Given the description of an element on the screen output the (x, y) to click on. 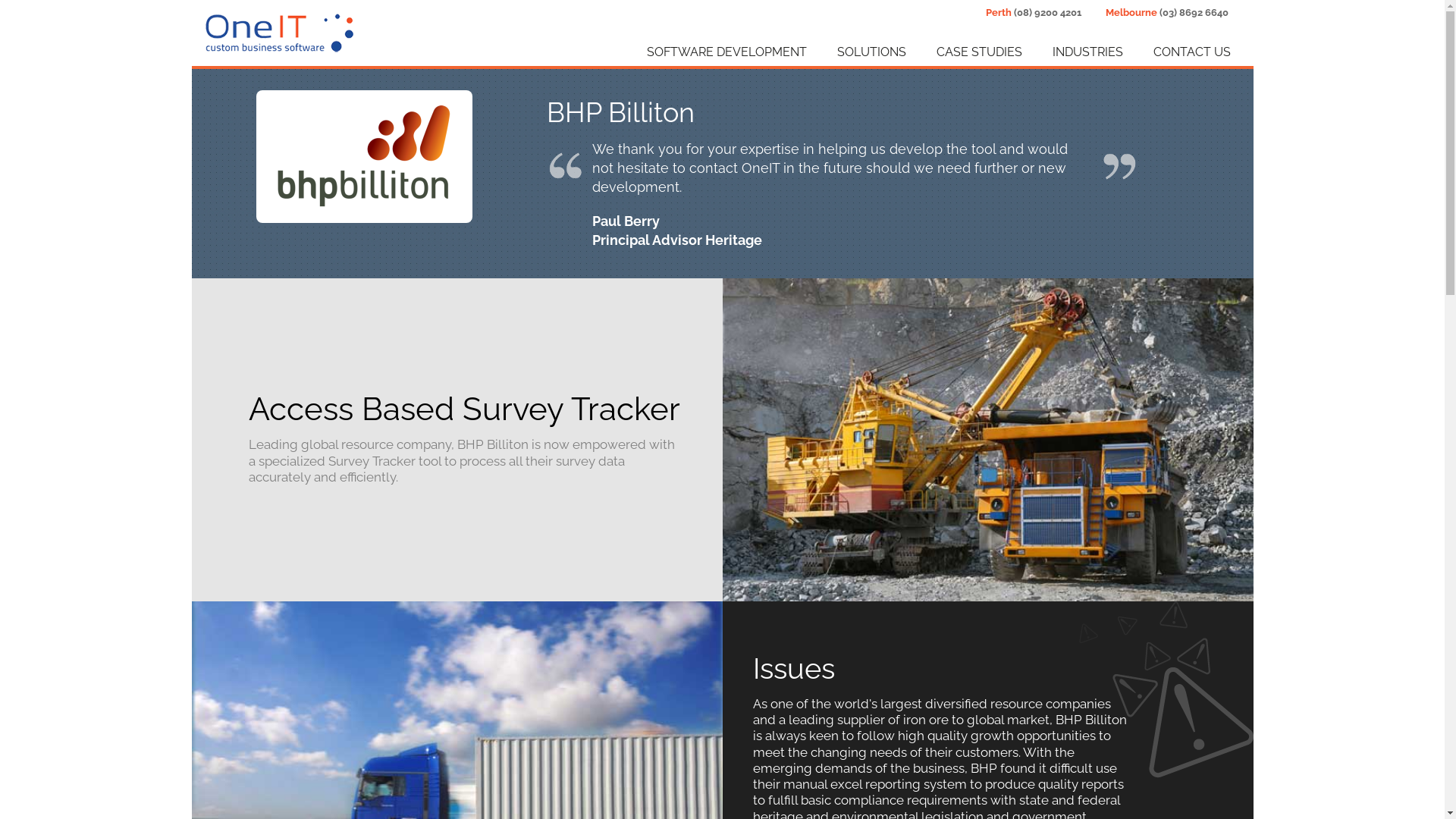
BHP Billiton Element type: hover (363, 156)
Software and Web Designer - OneIT Element type: hover (278, 31)
INDUSTRIES Element type: text (1072, 51)
SOFTWARE DEVELOPMENT Element type: text (710, 51)
CONTACT US Element type: text (1176, 51)
CASE STUDIES Element type: text (963, 51)
SOLUTIONS Element type: text (856, 51)
